Given the description of an element on the screen output the (x, y) to click on. 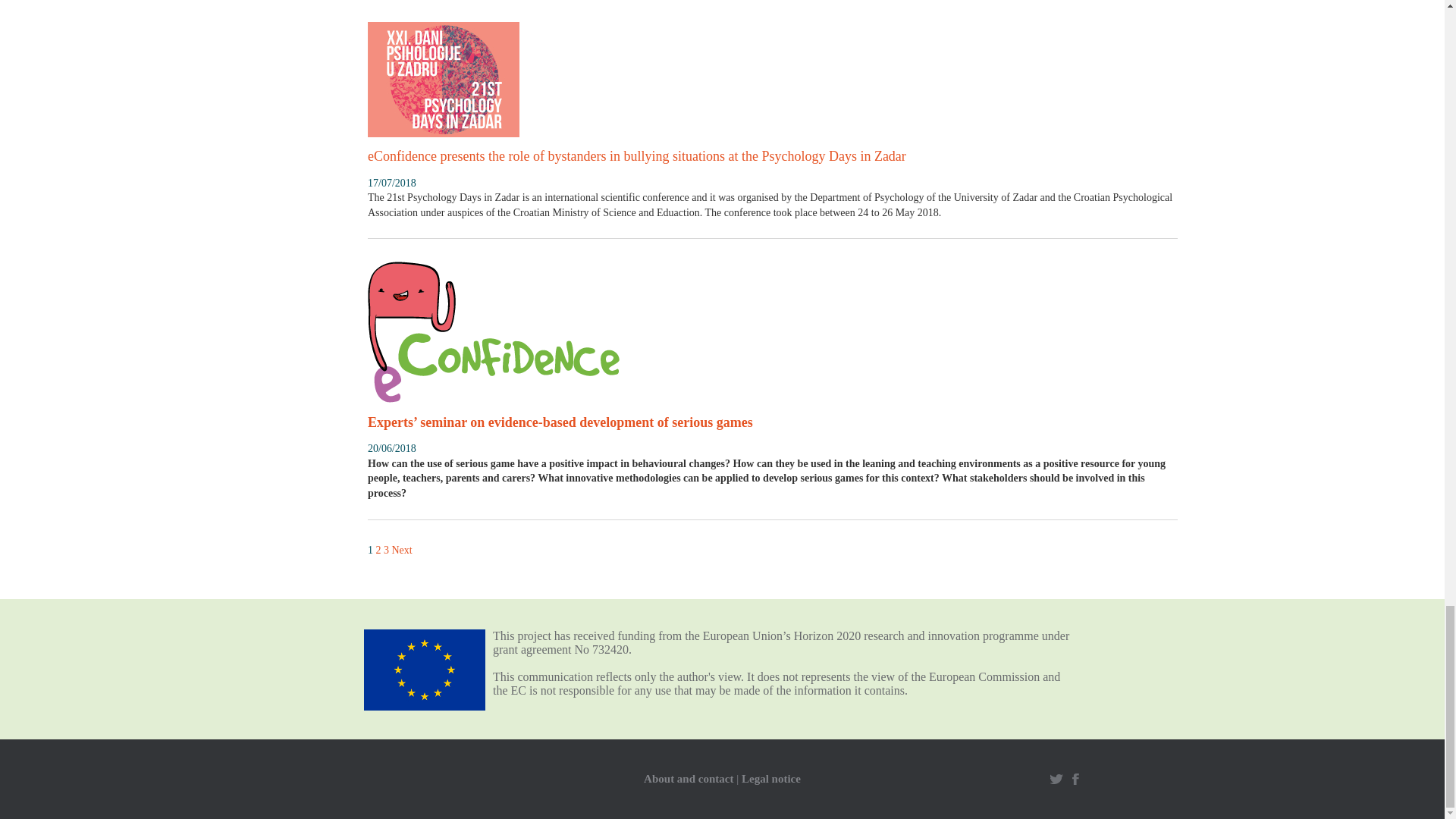
3 (386, 549)
Next (401, 549)
2 (378, 549)
